Given the description of an element on the screen output the (x, y) to click on. 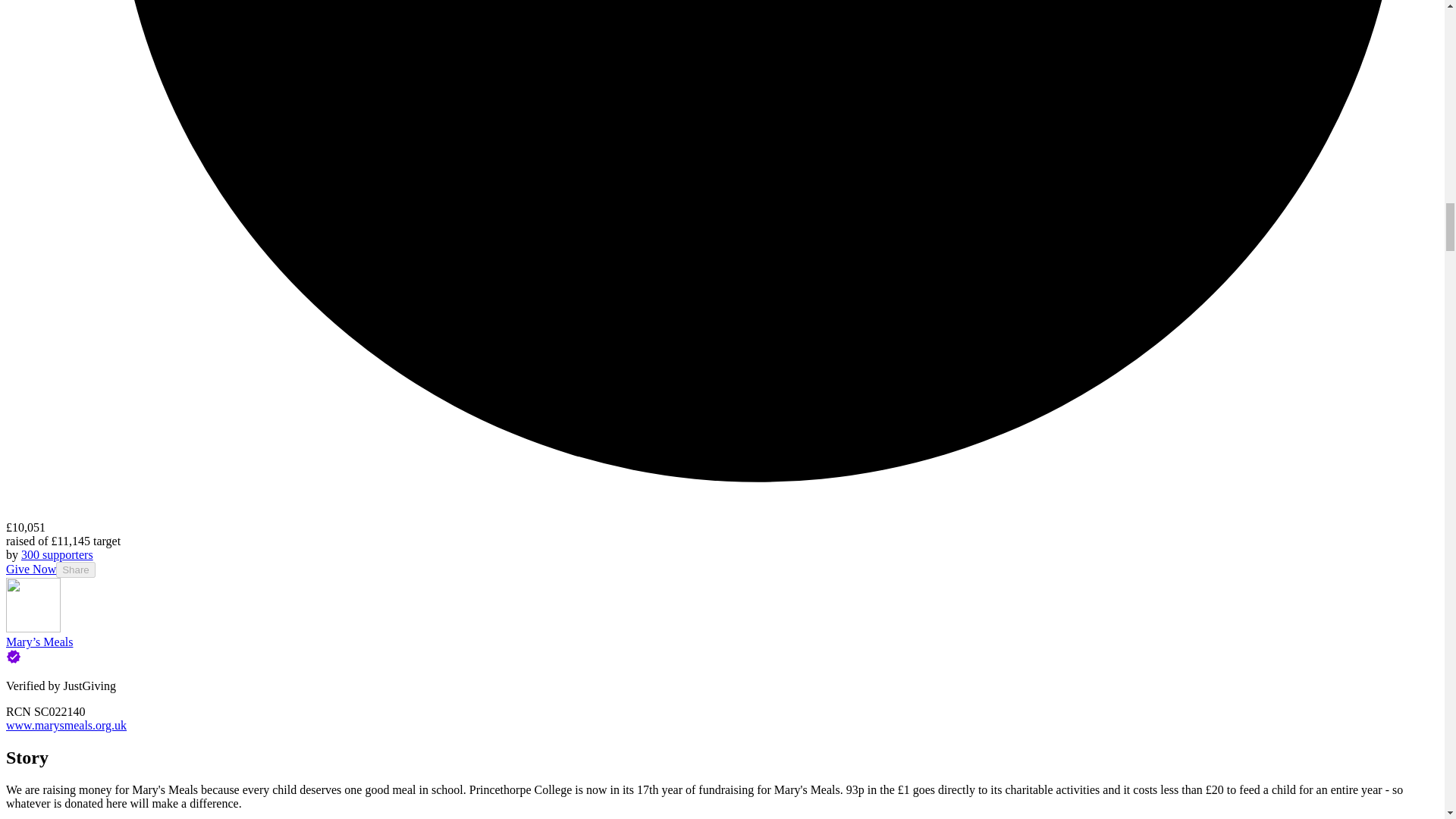
Give Now (30, 568)
300 supporters (57, 554)
www.marysmeals.org.uk (65, 725)
Share (76, 569)
